Given the description of an element on the screen output the (x, y) to click on. 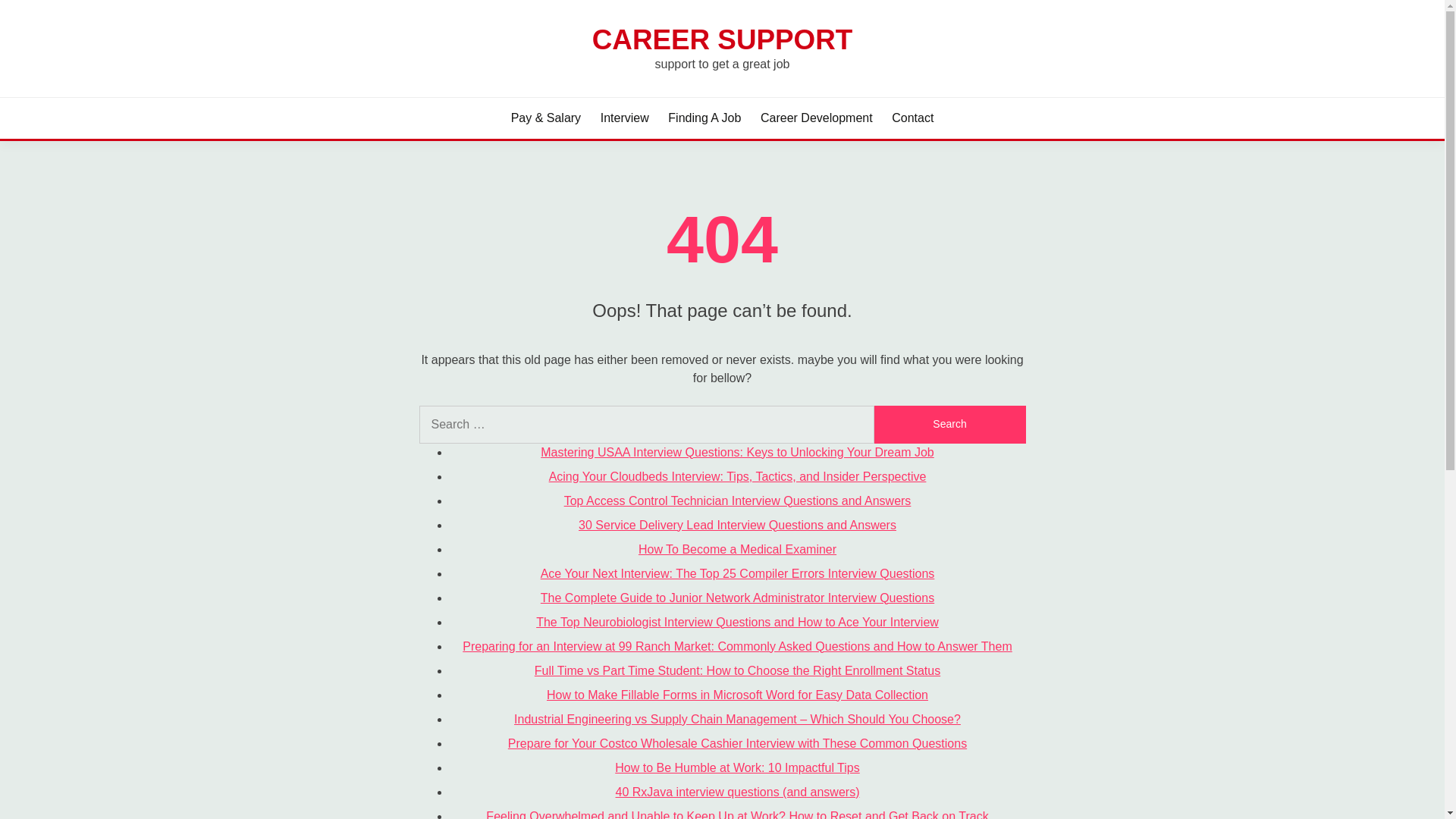
30 Service Delivery Lead Interview Questions and Answers (737, 524)
Search (949, 424)
How to Be Humble at Work: 10 Impactful Tips (737, 767)
Interview (624, 117)
